Given the description of an element on the screen output the (x, y) to click on. 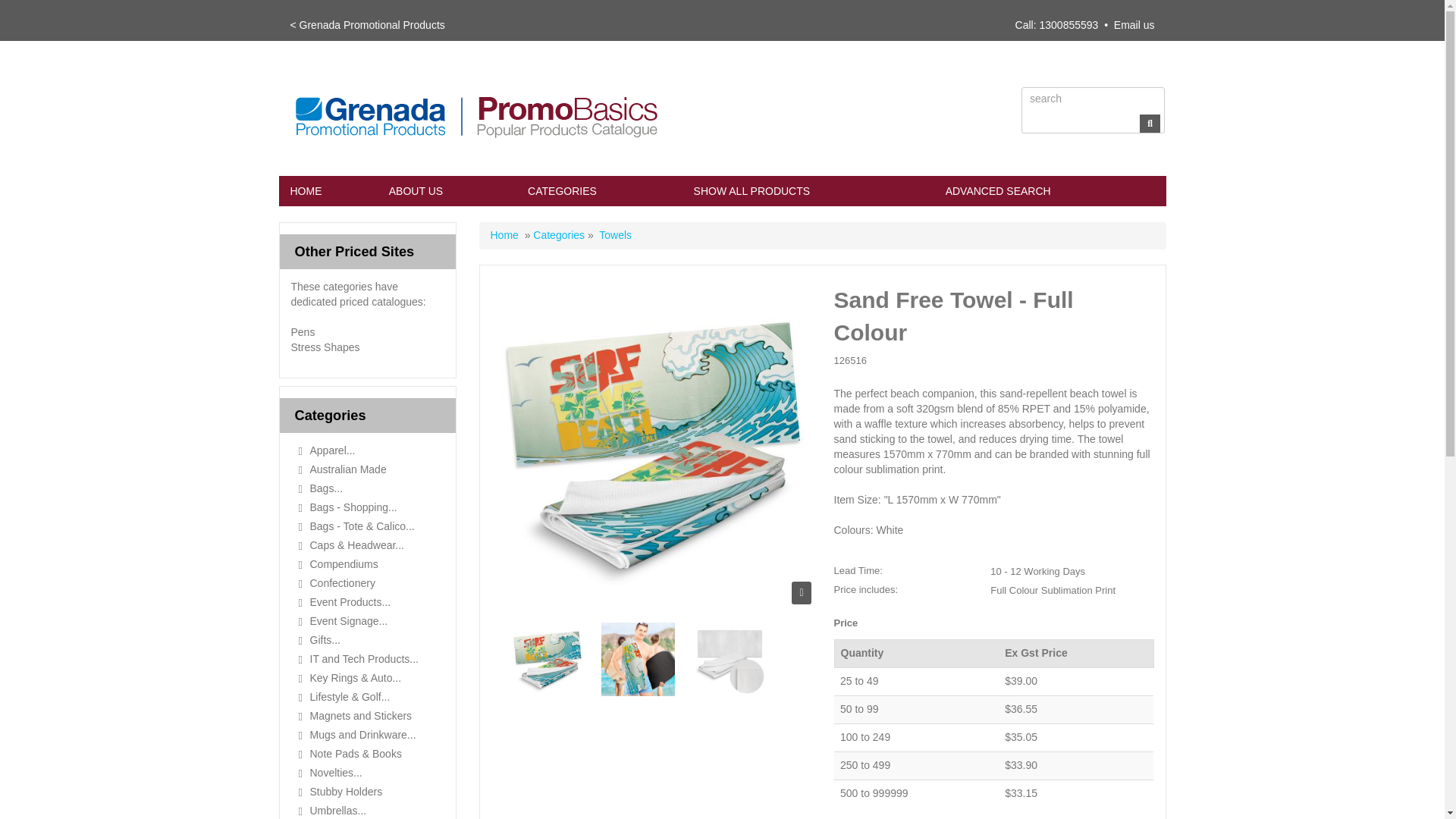
yourdomain.com (473, 113)
Home (503, 234)
yourdomain.com (494, 113)
HOME (328, 191)
CATEGORIES (599, 191)
Categories (558, 234)
SHOW ALL PRODUCTS (808, 191)
ADVANCED SEARCH (1050, 191)
Email us (1133, 24)
ABOUT US (446, 191)
Towels (614, 234)
